Given the description of an element on the screen output the (x, y) to click on. 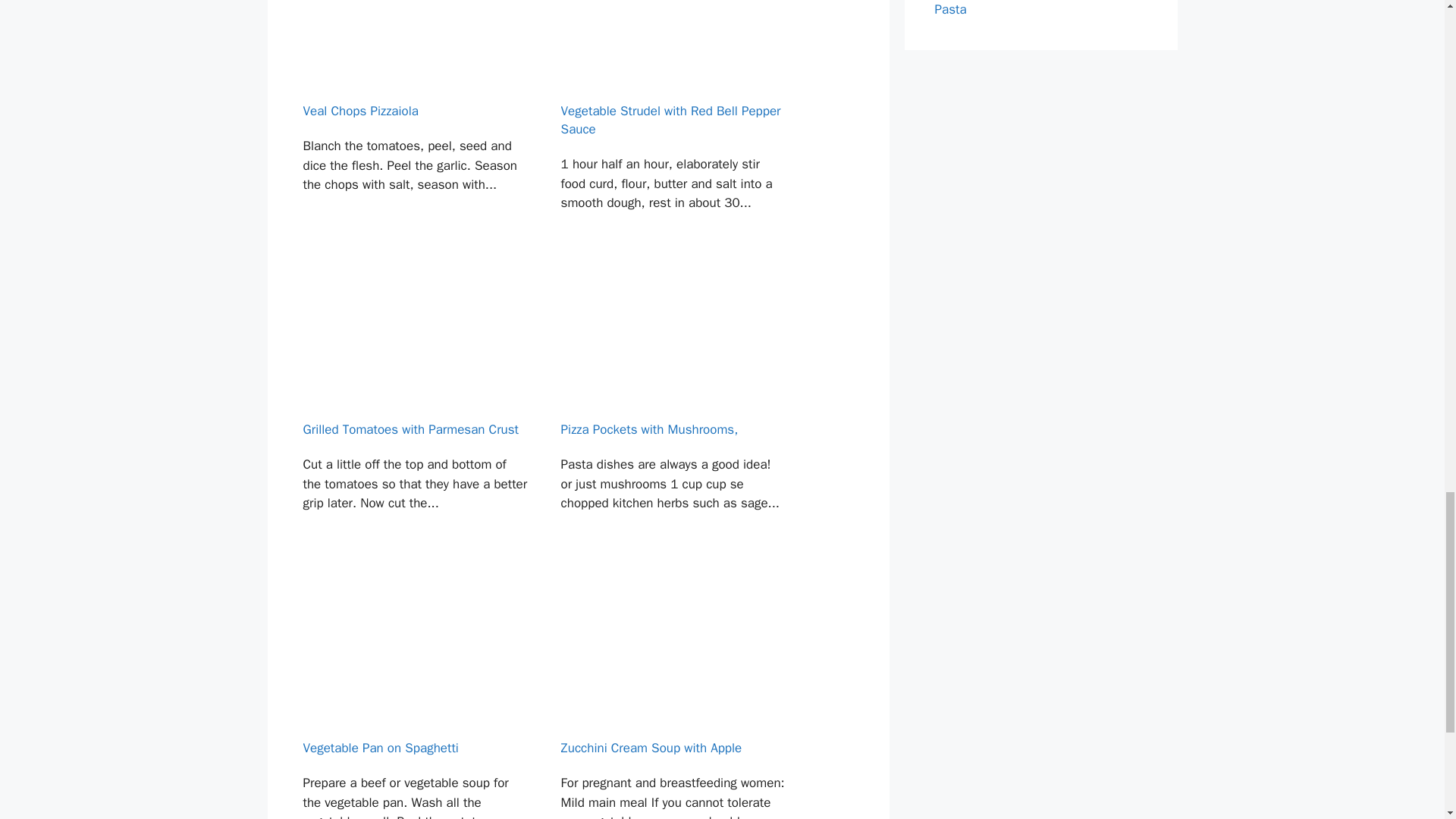
Veal Chops Pizzaiola (414, 123)
Zucchini Cream Soup with Apple (673, 695)
Vegetable Pan on Spaghetti (414, 695)
Vegetable Strudel with Red Bell Pepper Sauce (673, 123)
